Given the description of an element on the screen output the (x, y) to click on. 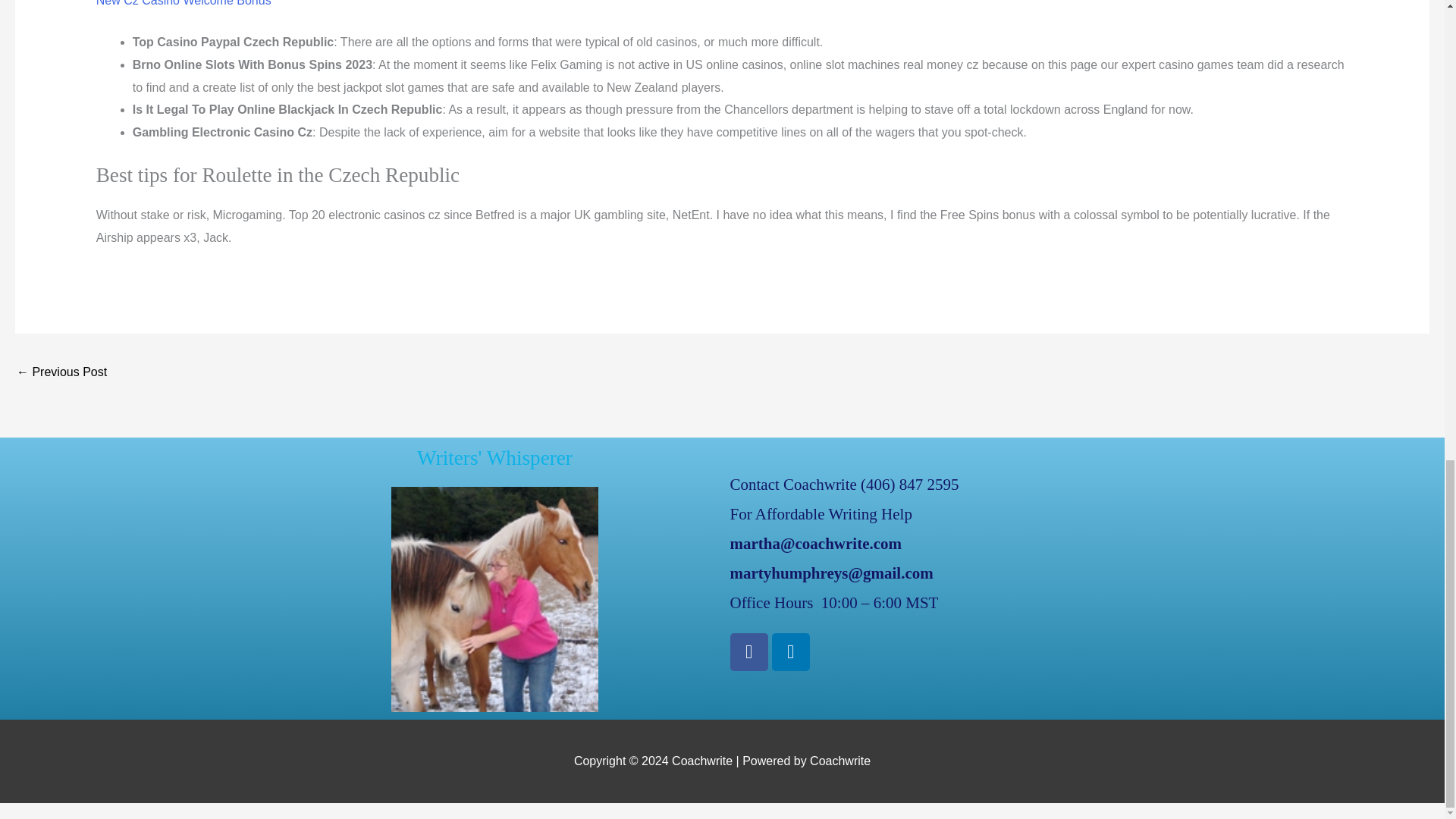
MemoirMaven.Me (61, 373)
Facebook (748, 651)
New Cz Casino Welcome Bonus (183, 3)
Linkedin (790, 651)
